Given the description of an element on the screen output the (x, y) to click on. 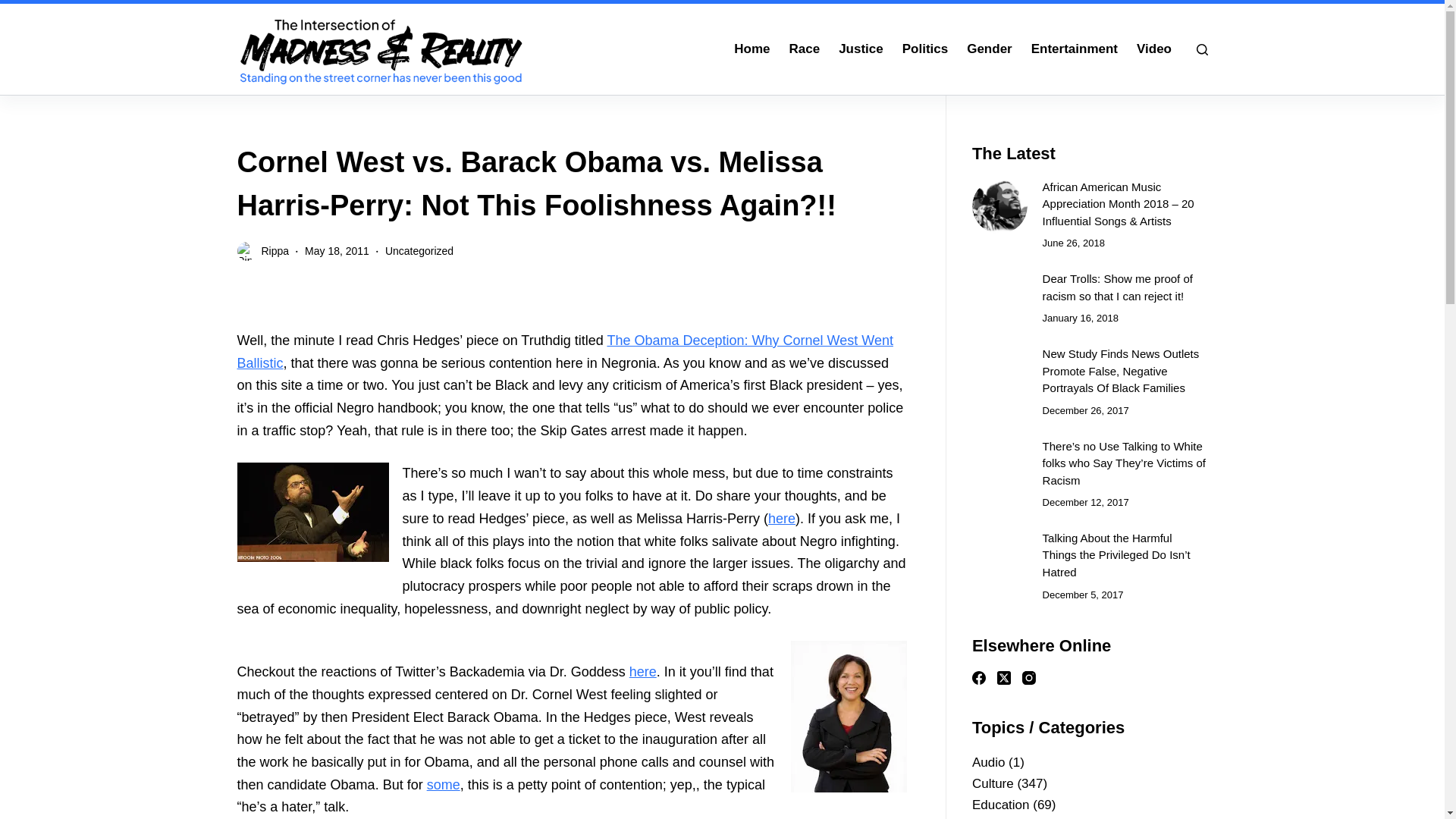
Uncategorized (418, 250)
here (781, 518)
Gender (990, 49)
here (642, 671)
Race (803, 49)
Skip to content (15, 7)
Entertainment (1074, 49)
Home (751, 49)
Rippa (274, 250)
Justice (861, 49)
